Given the description of an element on the screen output the (x, y) to click on. 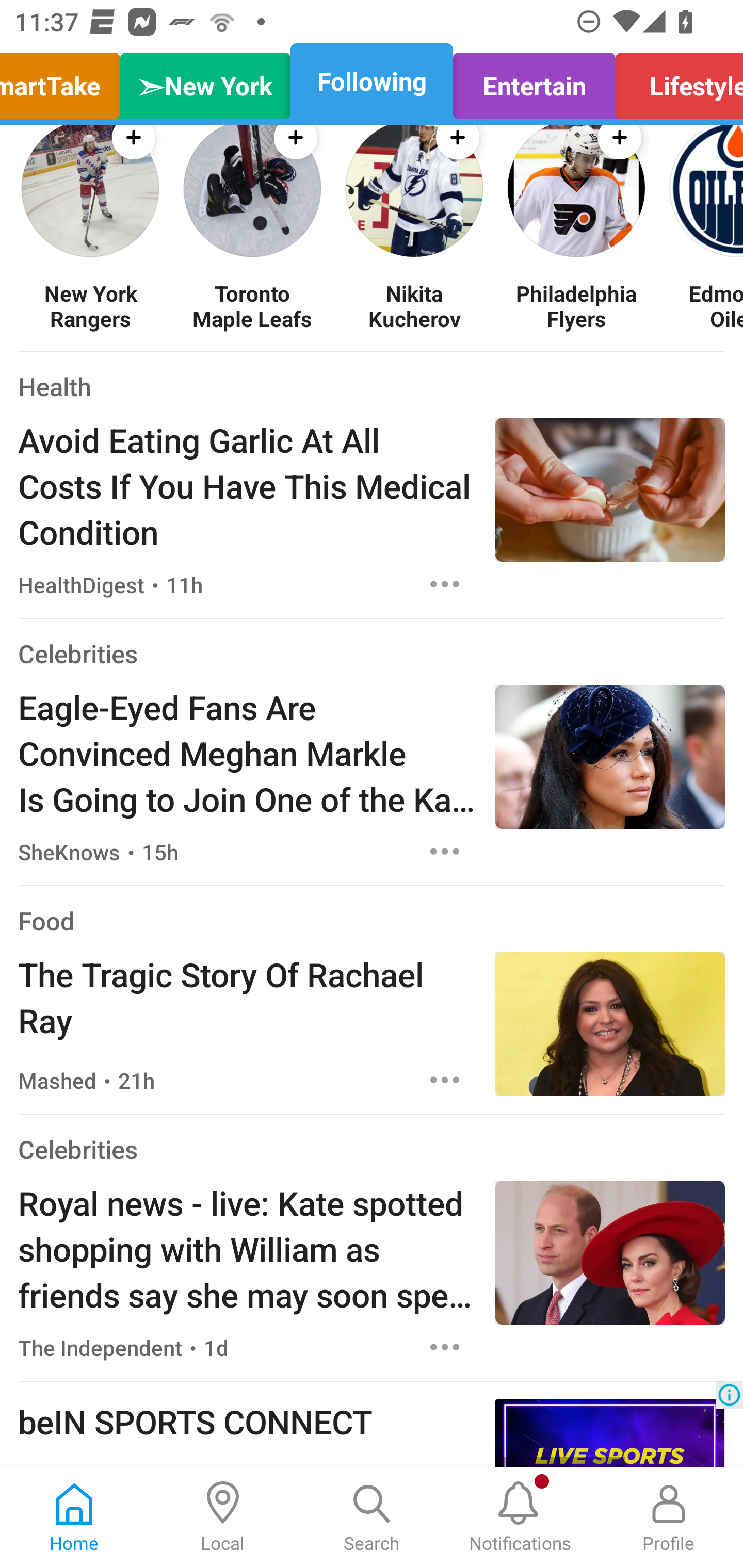
➣New York (205, 81)
Following (371, 81)
Entertain (534, 81)
New York Rangers (89, 305)
Toronto Maple Leafs (251, 305)
Nikita Kucherov (413, 305)
Philadelphia Flyers (575, 305)
Health (54, 386)
Options (444, 584)
Celebrities (77, 653)
Options (444, 851)
Food (46, 920)
Options (444, 1080)
Celebrities (77, 1149)
Options (444, 1346)
Ad Choices Icon (729, 1394)
beIN SPORTS CONNECT (247, 1421)
Local (222, 1517)
Search (371, 1517)
Notifications, New notification Notifications (519, 1517)
Profile (668, 1517)
